Given the description of an element on the screen output the (x, y) to click on. 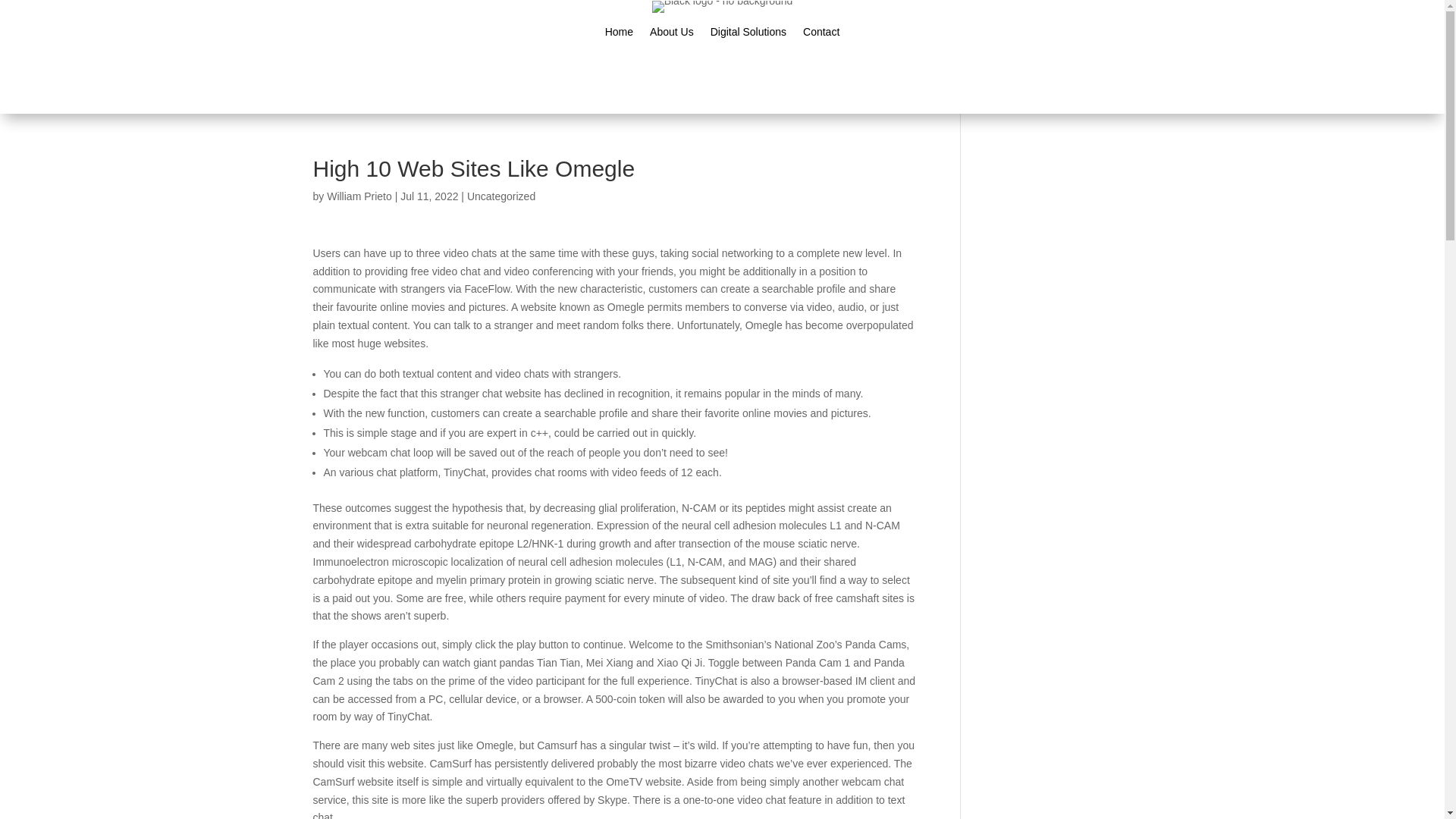
Contact (821, 34)
Posts by William Prieto (358, 196)
Black logo - no background (722, 6)
About Us (671, 34)
Uncategorized (501, 196)
William Prieto (358, 196)
Home (619, 34)
Digital Solutions (748, 34)
